Given the description of an element on the screen output the (x, y) to click on. 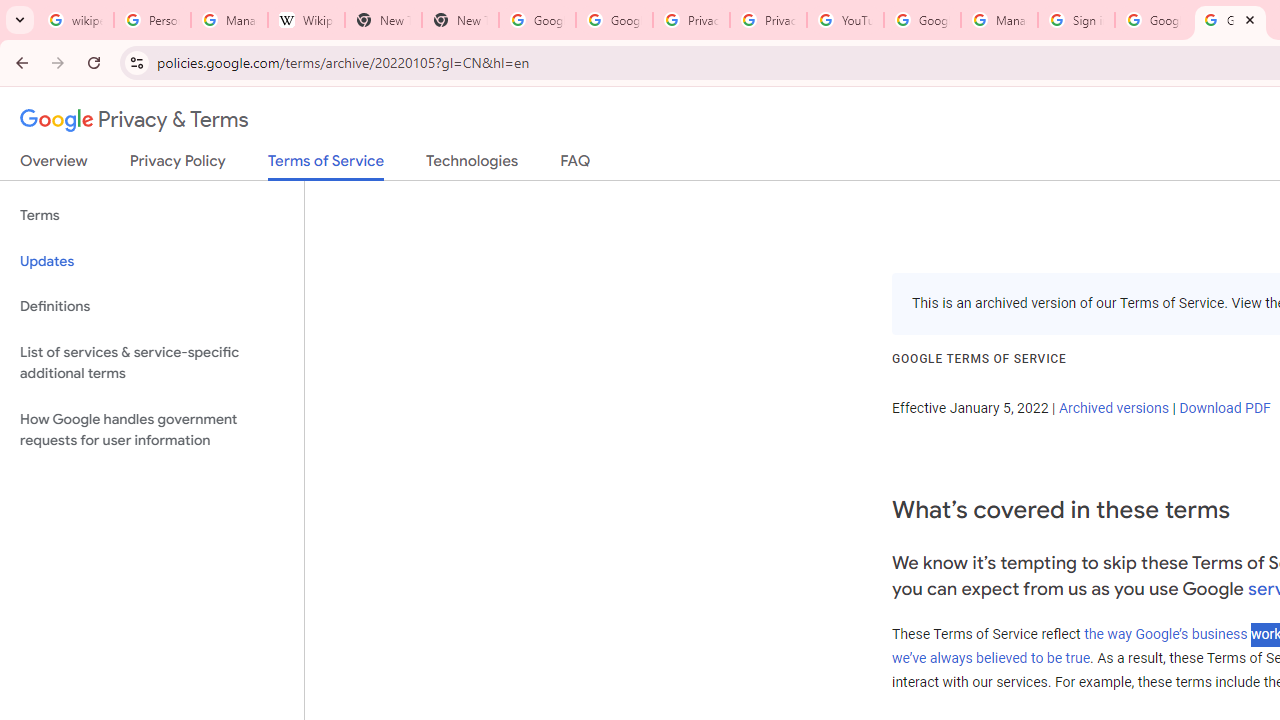
List of services & service-specific additional terms (152, 362)
Sign in - Google Accounts (1076, 20)
New Tab (460, 20)
